Given the description of an element on the screen output the (x, y) to click on. 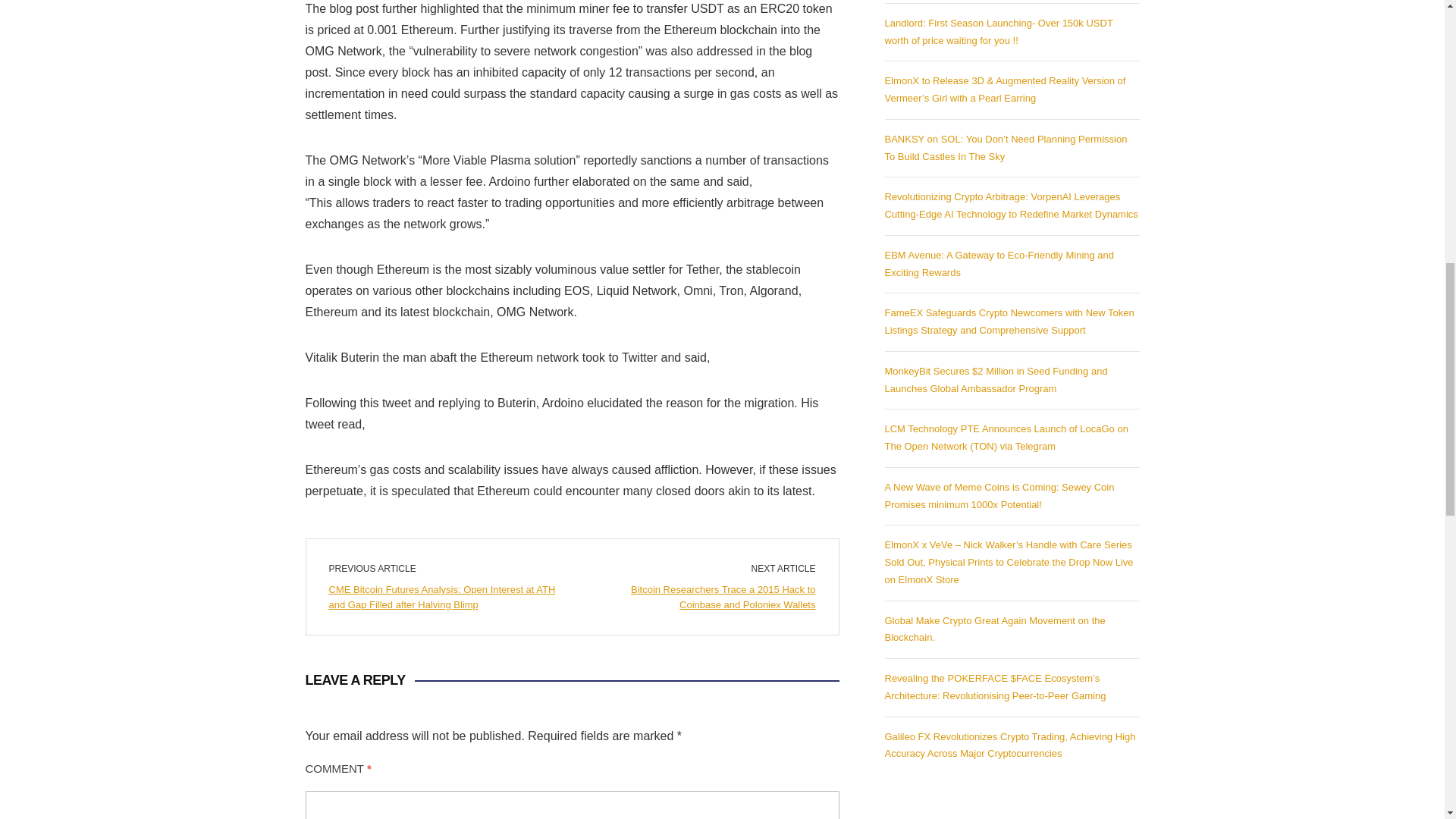
Global Make Crypto Great Again Movement on the Blockchain. (994, 628)
